Given the description of an element on the screen output the (x, y) to click on. 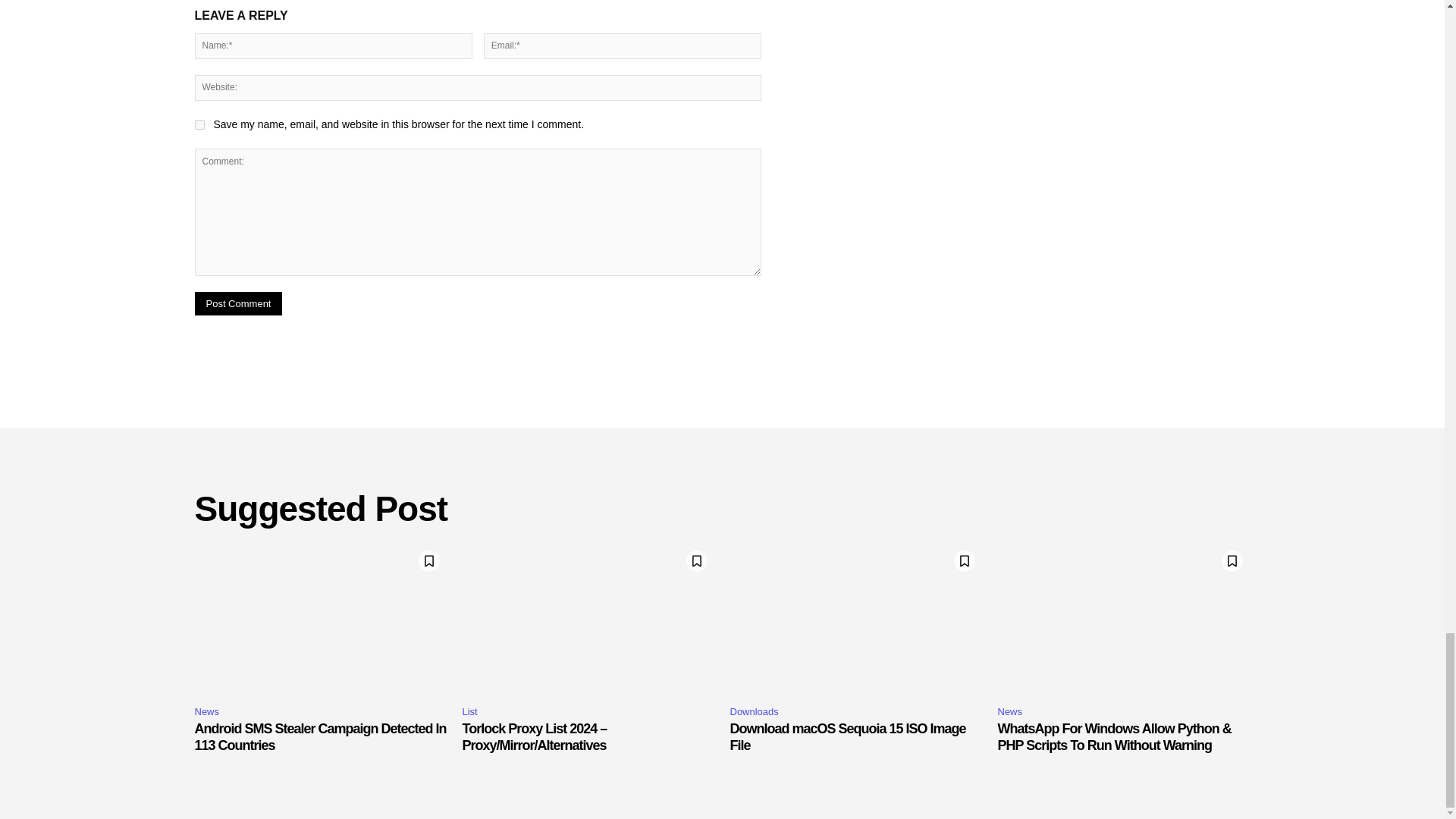
Post Comment (237, 303)
yes (198, 124)
Post Comment (237, 303)
